Given the description of an element on the screen output the (x, y) to click on. 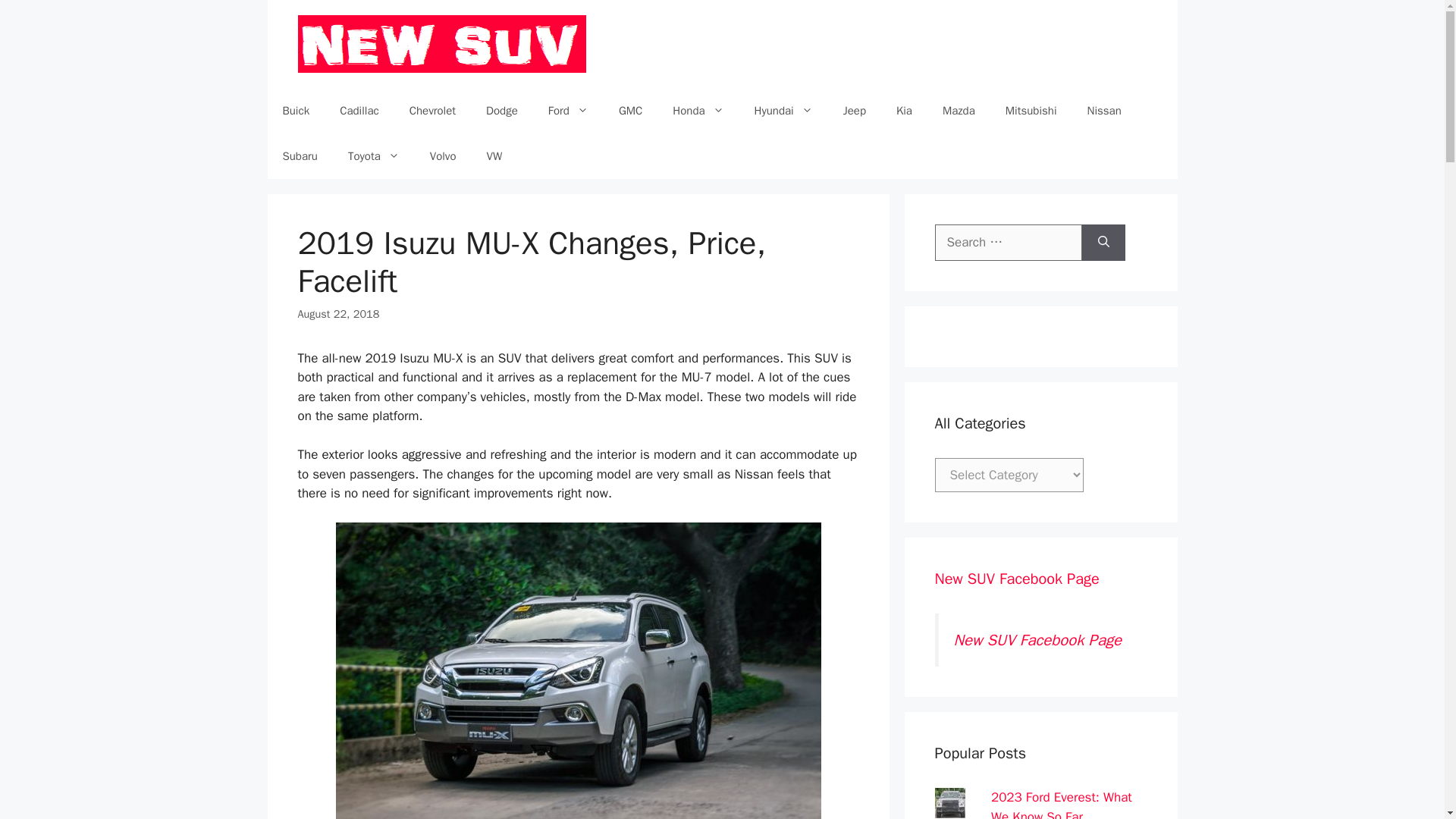
Buick (295, 110)
GMC (631, 110)
Ford (568, 110)
Nissan (1104, 110)
Cadillac (359, 110)
Chevrolet (432, 110)
Honda (698, 110)
Volvo (442, 156)
Kia (903, 110)
Subaru (298, 156)
Jeep (854, 110)
Dodge (501, 110)
Mazda (958, 110)
Toyota (373, 156)
VW (494, 156)
